Given the description of an element on the screen output the (x, y) to click on. 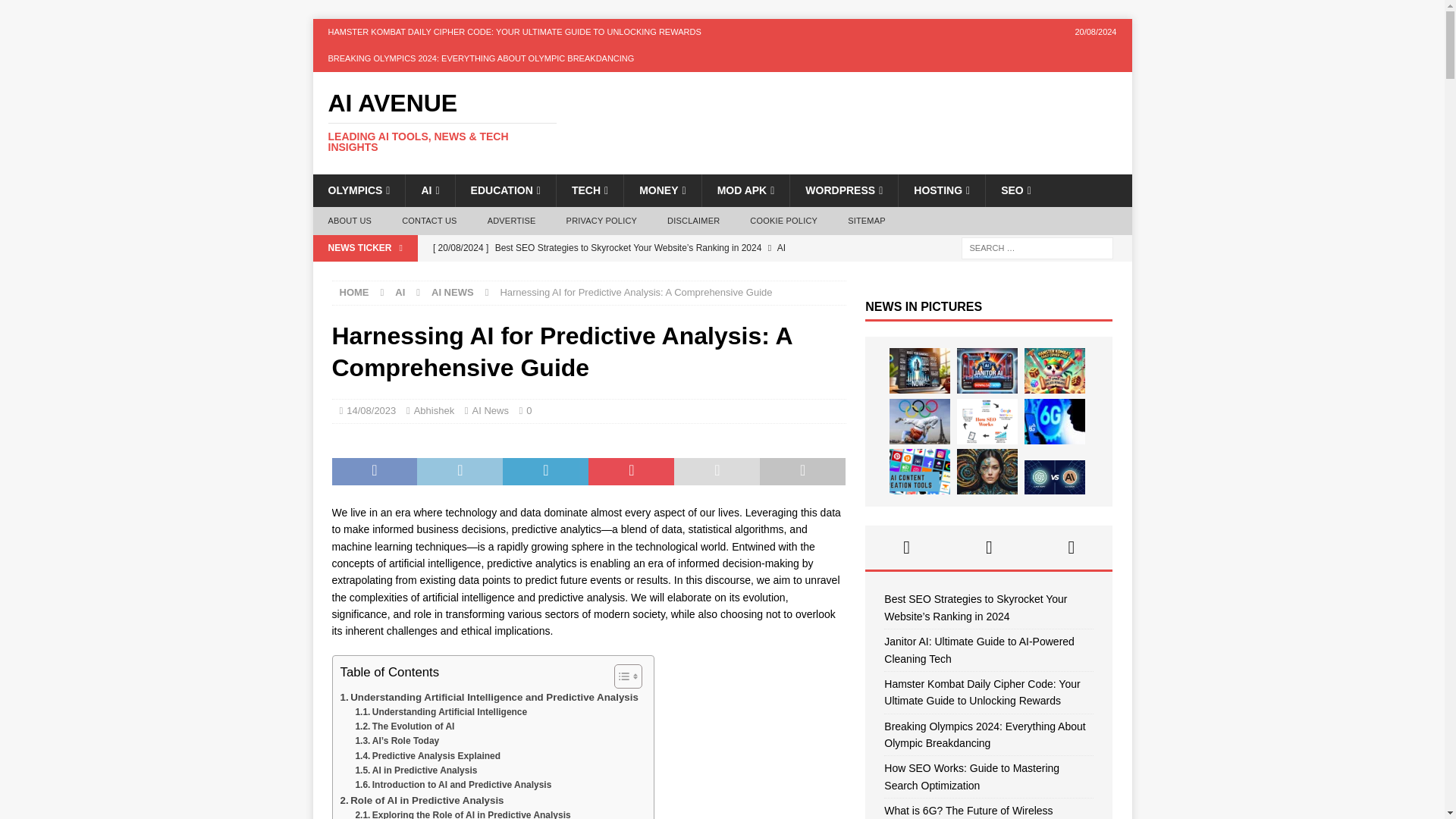
TECH (589, 190)
earn money online (661, 190)
MONEY (661, 190)
EDUCATION (505, 190)
OLYMPICS (358, 190)
Education (505, 190)
AI (429, 190)
tech (589, 190)
